Given the description of an element on the screen output the (x, y) to click on. 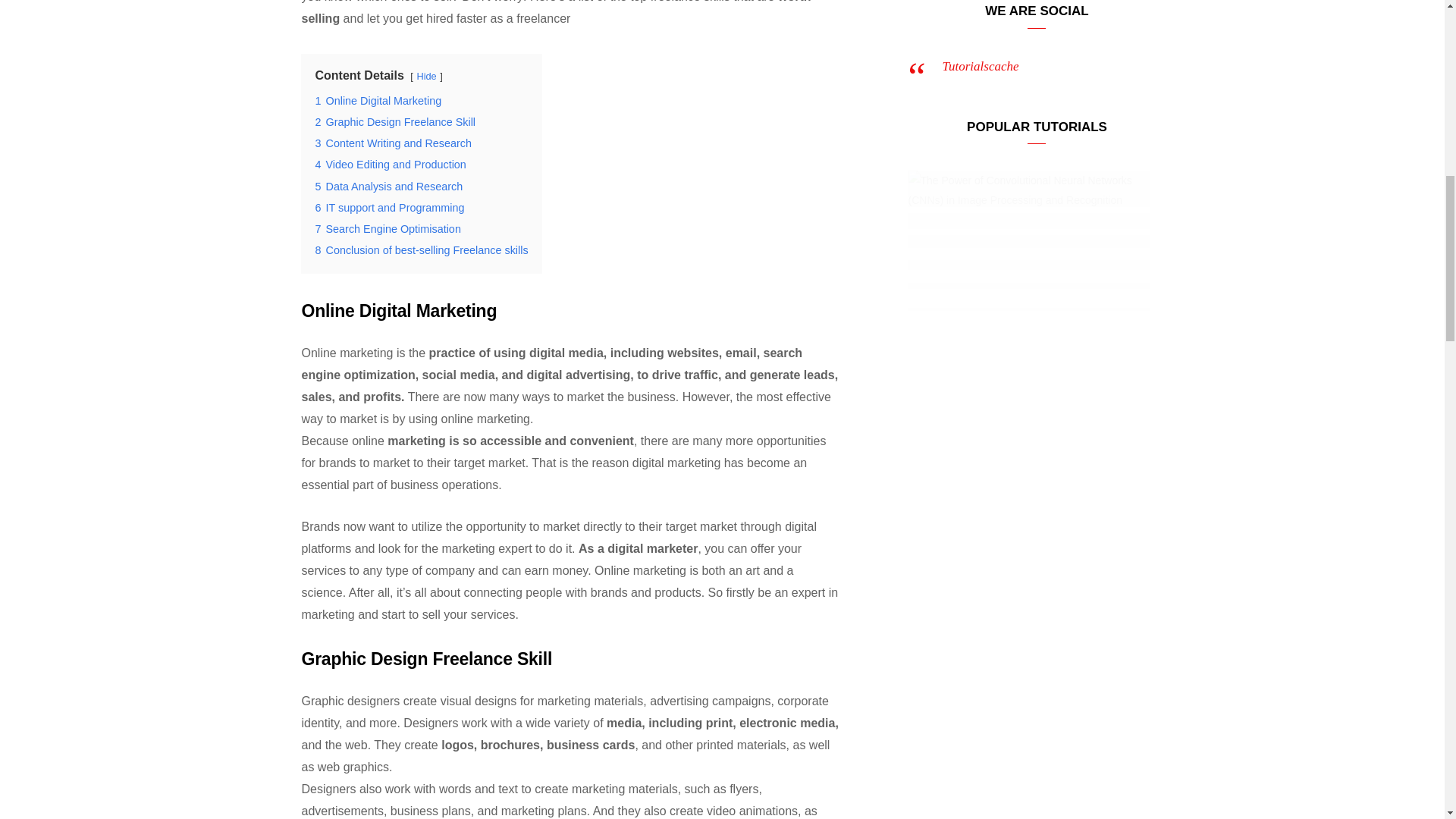
4 Video Editing and Production (389, 164)
1 Online Digital Marketing (377, 101)
7 Search Engine Optimisation (387, 228)
6 IT support and Programming (389, 207)
The Power of CNNs in Image Processing and Recognition (1029, 250)
5 Data Analysis and Research (388, 186)
8 Conclusion of best-selling Freelance skills (420, 250)
3 Content Writing and Research (392, 143)
2 Graphic Design Freelance Skill (395, 121)
Hide (425, 75)
